Given the description of an element on the screen output the (x, y) to click on. 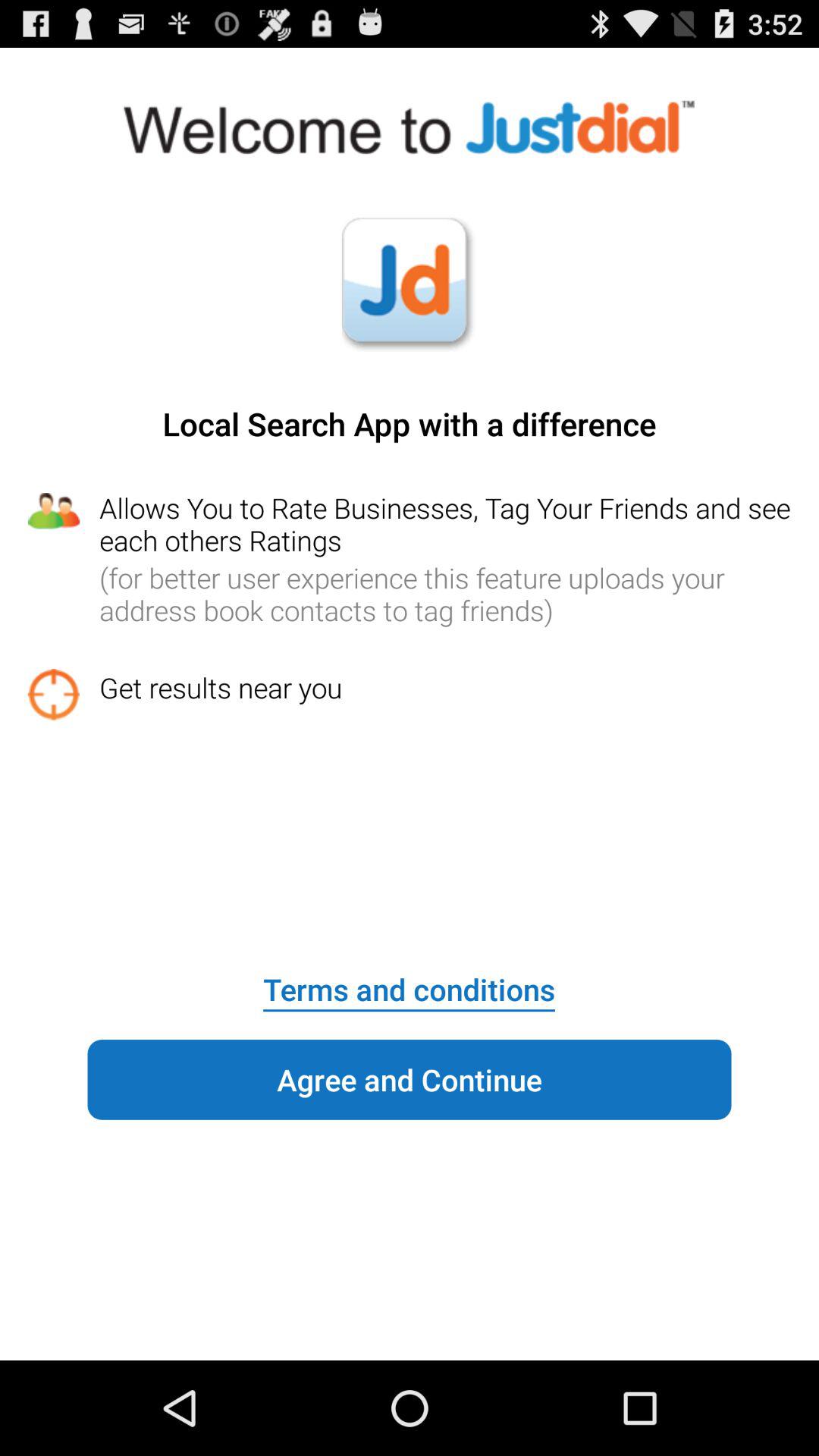
swipe to terms and conditions item (409, 979)
